Given the description of an element on the screen output the (x, y) to click on. 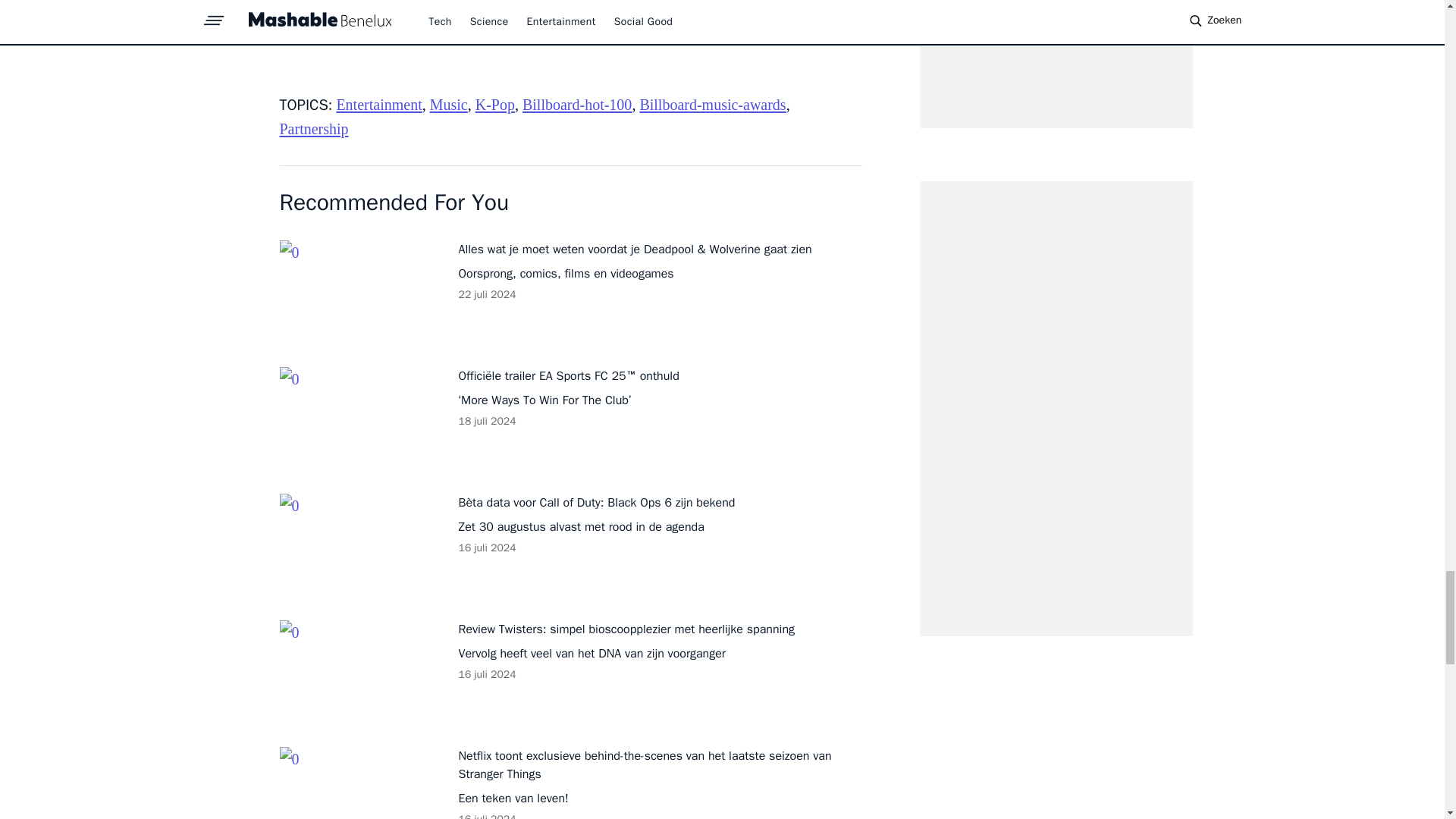
K-Pop (495, 104)
Partnership (313, 128)
Billboard-music-awards (712, 104)
Entertainment (379, 104)
Billboard-hot-100 (576, 104)
Music (448, 104)
